Given the description of an element on the screen output the (x, y) to click on. 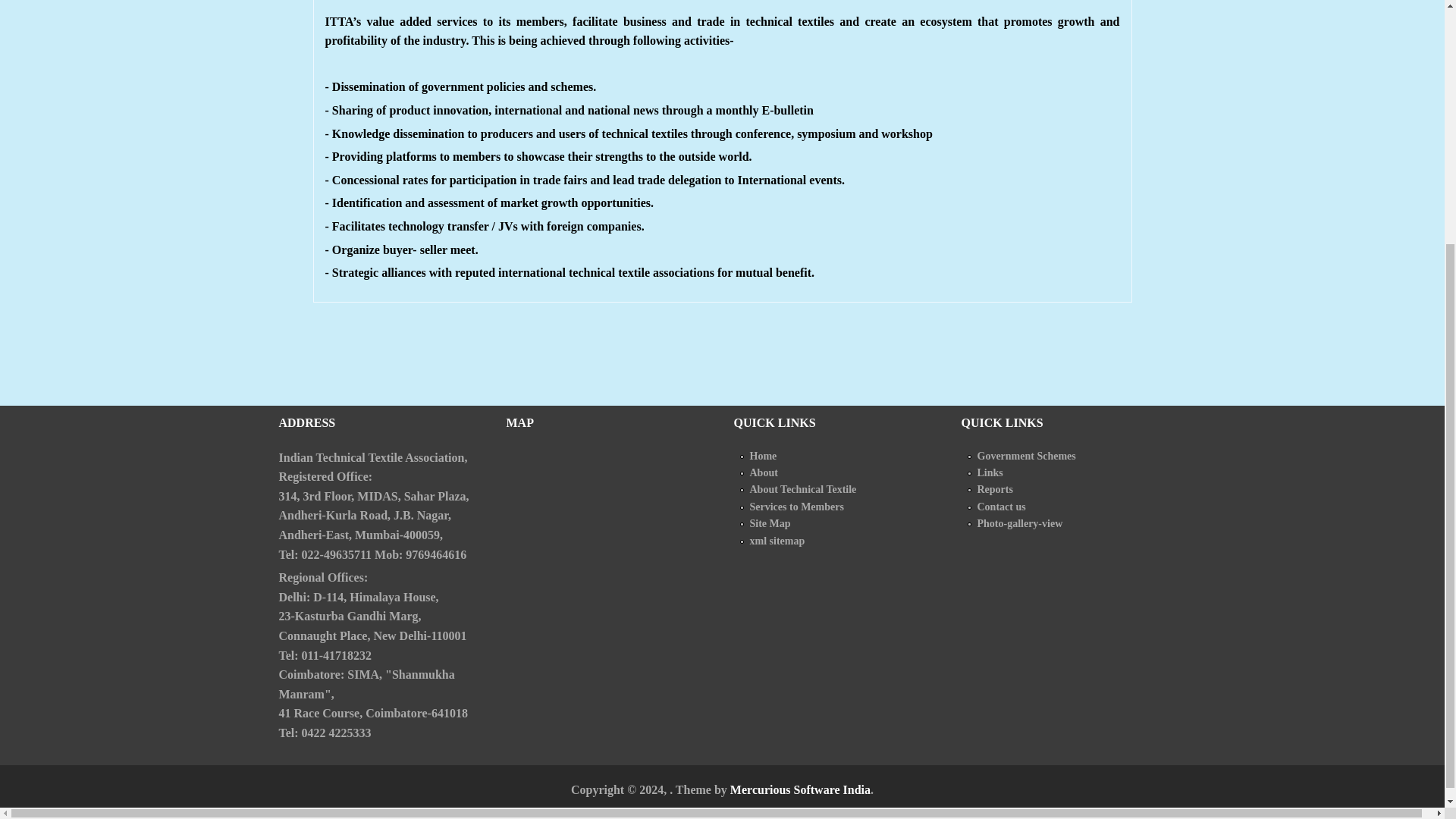
Contact us (1000, 506)
Reports (993, 489)
Links (989, 472)
Site Map (769, 523)
xml sitemap (777, 541)
Home (762, 455)
About Technical Textile (802, 489)
Services to Members (796, 506)
Government Schemes (1025, 455)
About (763, 472)
